Given the description of an element on the screen output the (x, y) to click on. 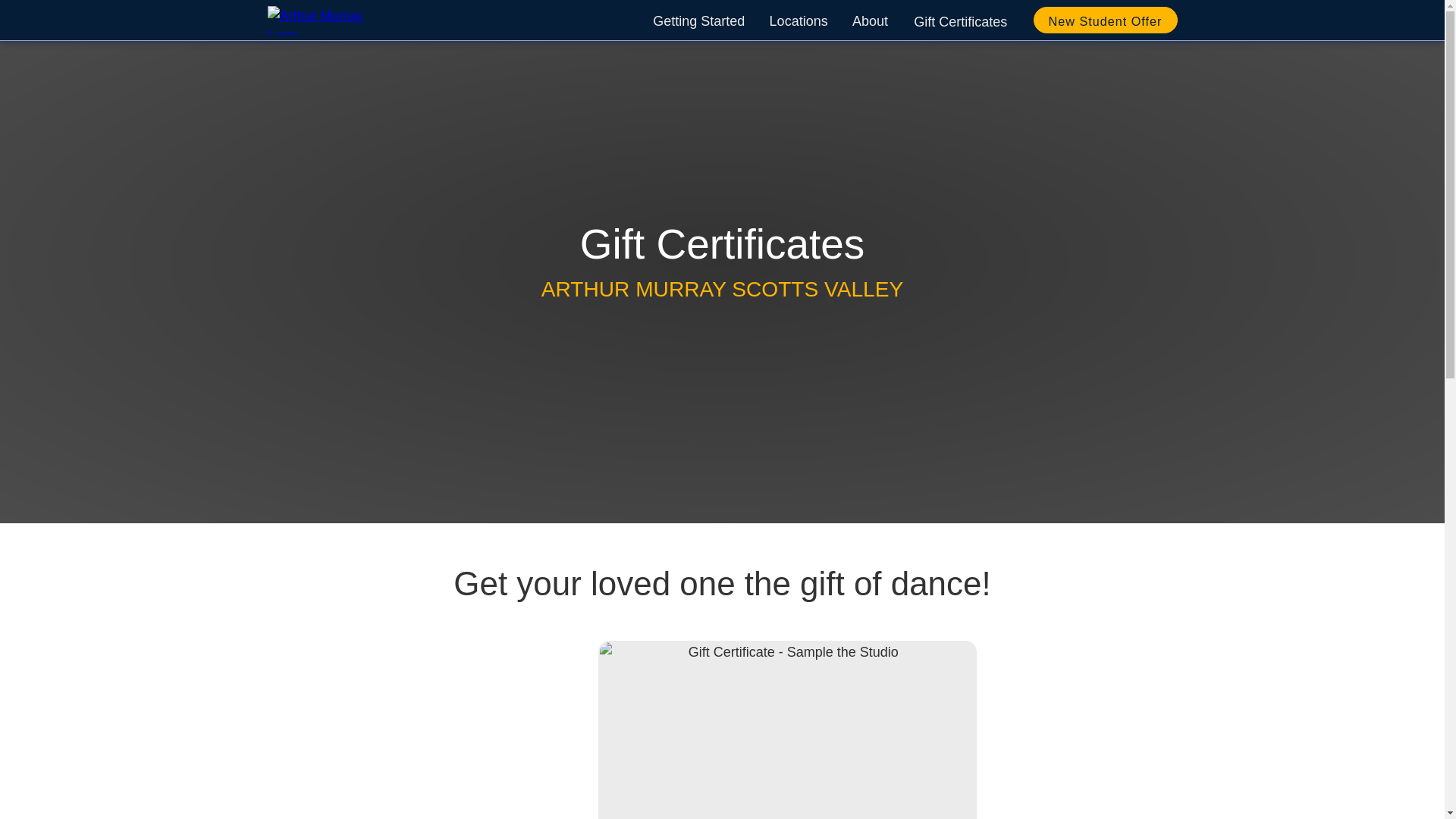
New Student Offer (1104, 19)
Gift Certificates (959, 19)
